Given the description of an element on the screen output the (x, y) to click on. 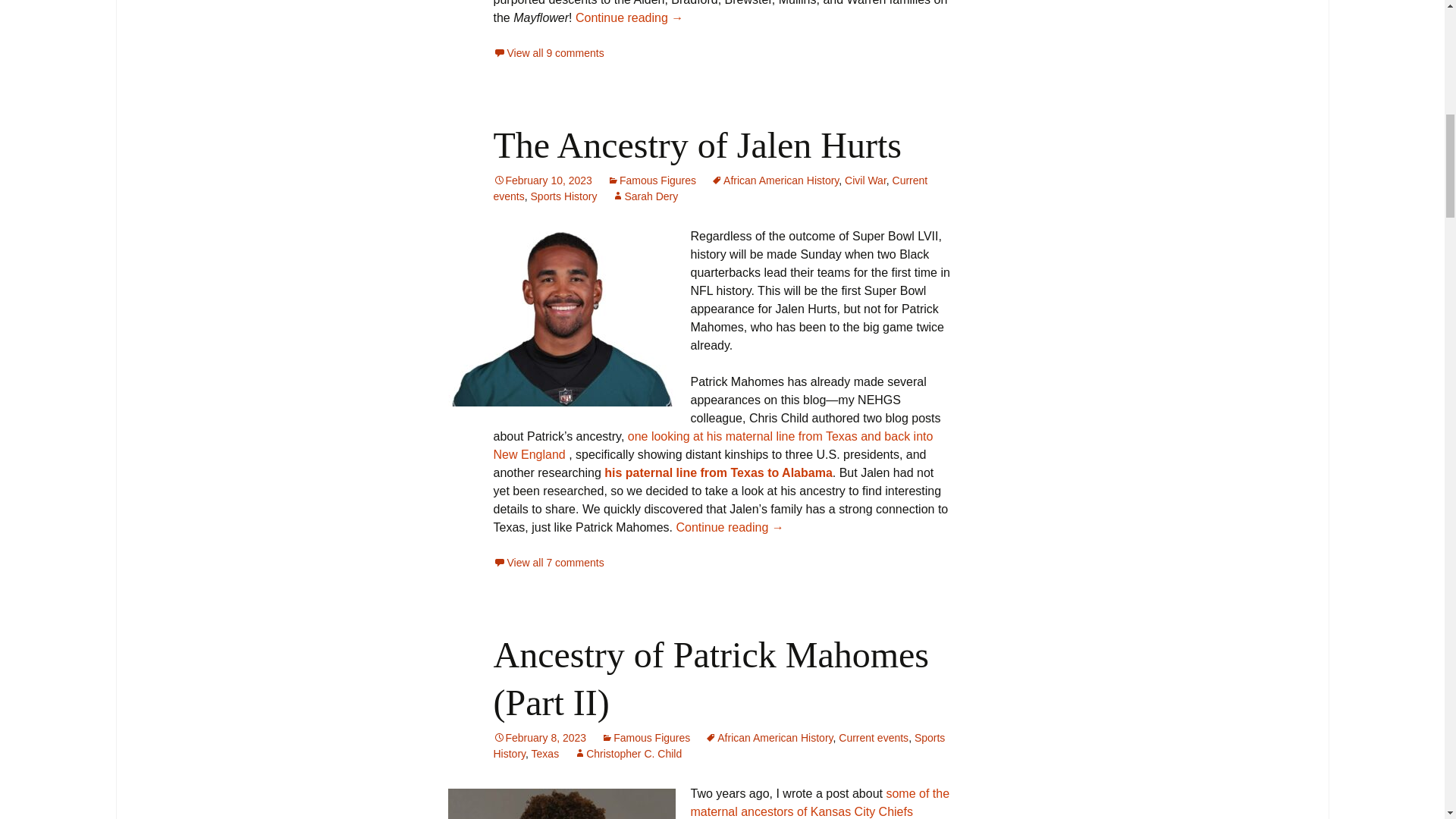
View all posts by Sarah Dery (644, 196)
View all posts by Christopher C. Child (627, 753)
Permalink to The Ancestry of Jalen Hurts (542, 180)
